Given the description of an element on the screen output the (x, y) to click on. 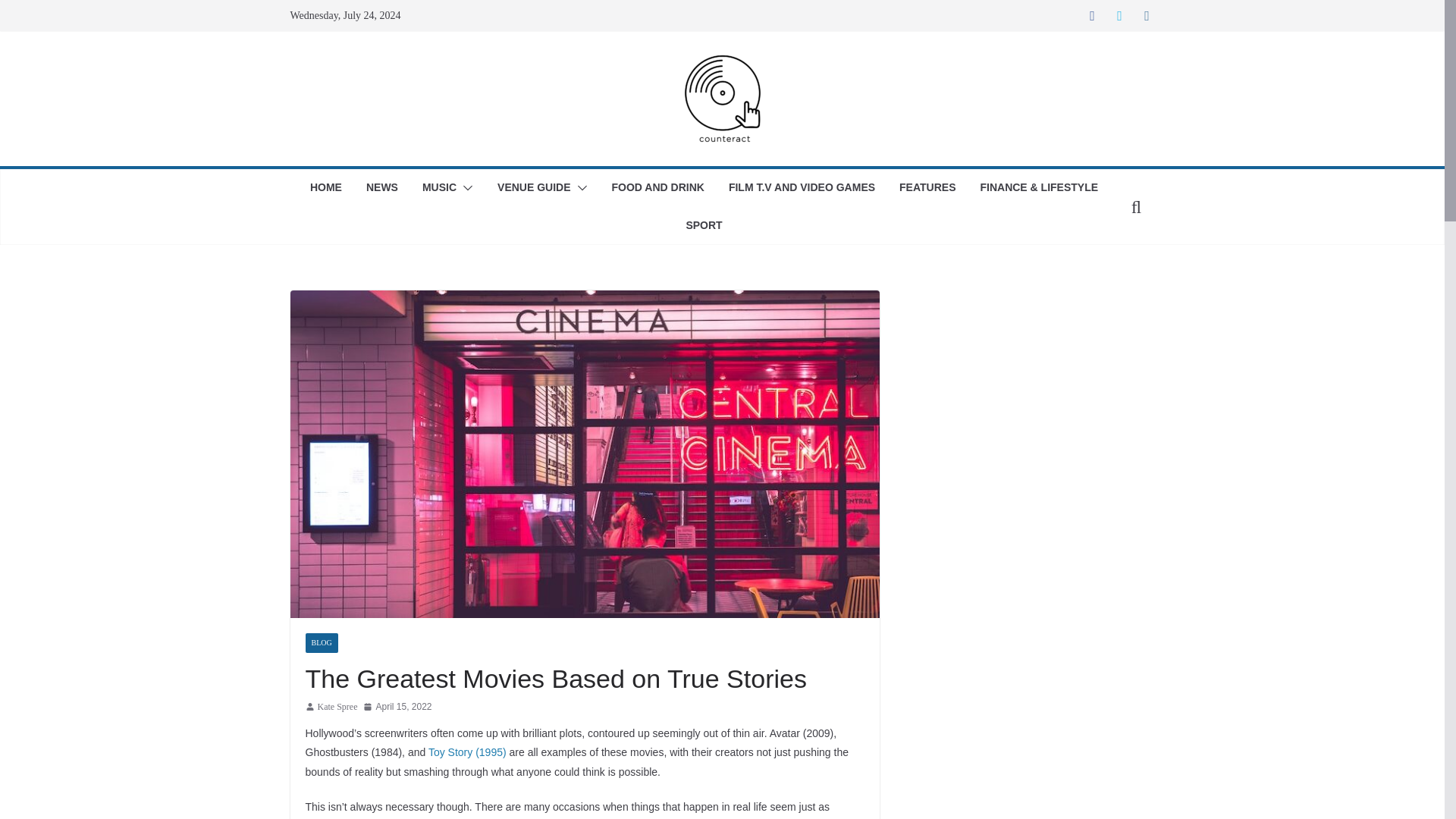
BLOG (320, 642)
Kate Spree (336, 707)
Kate Spree (336, 707)
SPORT (703, 225)
FEATURES (927, 187)
FILM T.V AND VIDEO GAMES (802, 187)
HOME (326, 187)
VENUE GUIDE (533, 187)
April 15, 2022 (396, 707)
MUSIC (439, 187)
NEWS (381, 187)
7:44 am (396, 707)
FOOD AND DRINK (657, 187)
